Given the description of an element on the screen output the (x, y) to click on. 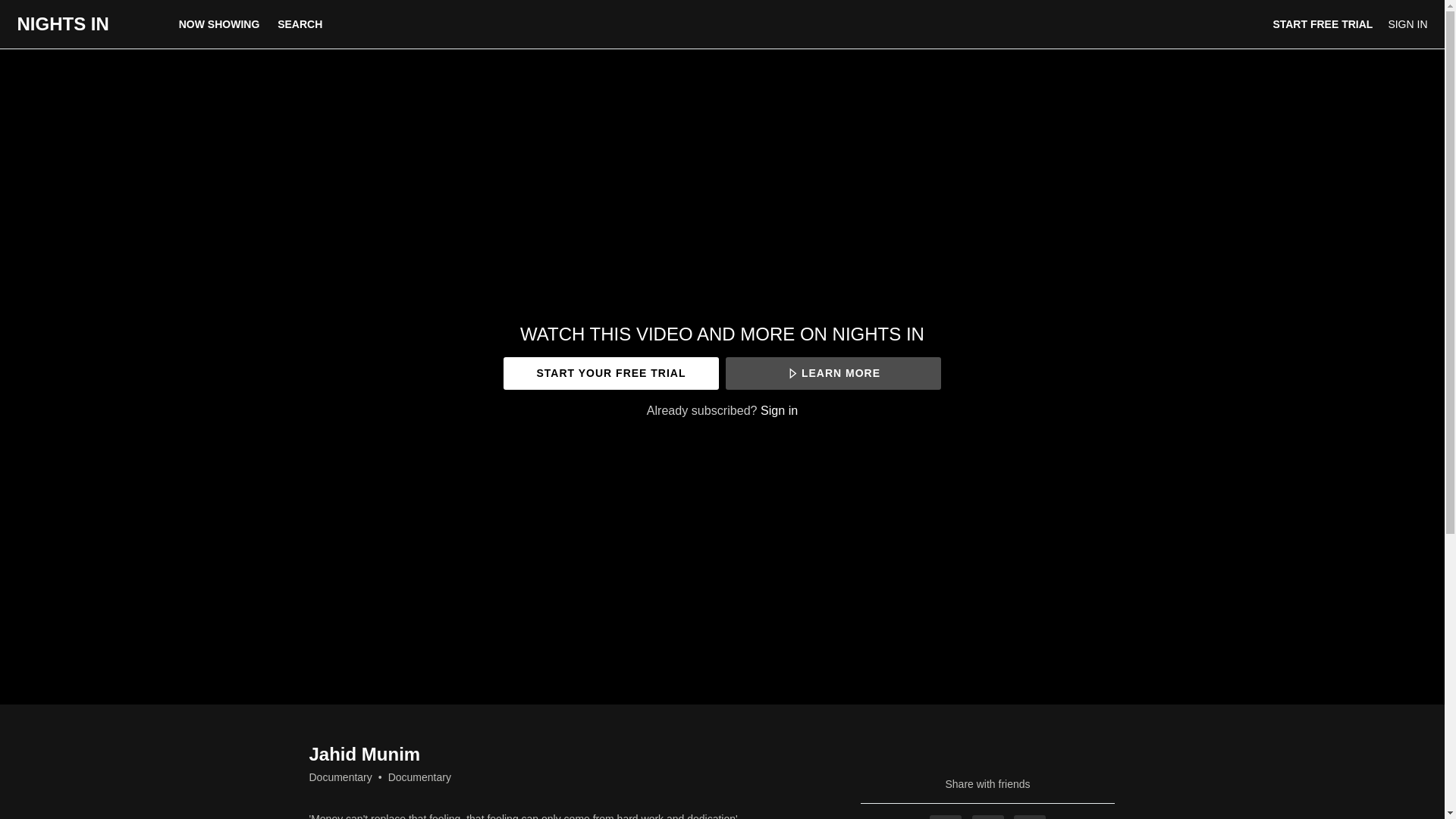
Documentary (419, 776)
LEARN MORE (832, 373)
SIGN IN (1406, 24)
START YOUR FREE TRIAL (610, 373)
NIGHTS IN (61, 24)
Documentary (340, 776)
Twitter (988, 816)
START FREE TRIAL (1322, 24)
Email (1029, 816)
Facebook (945, 816)
Sign in (778, 409)
Skip to main content (48, 7)
SEARCH (299, 24)
